Given the description of an element on the screen output the (x, y) to click on. 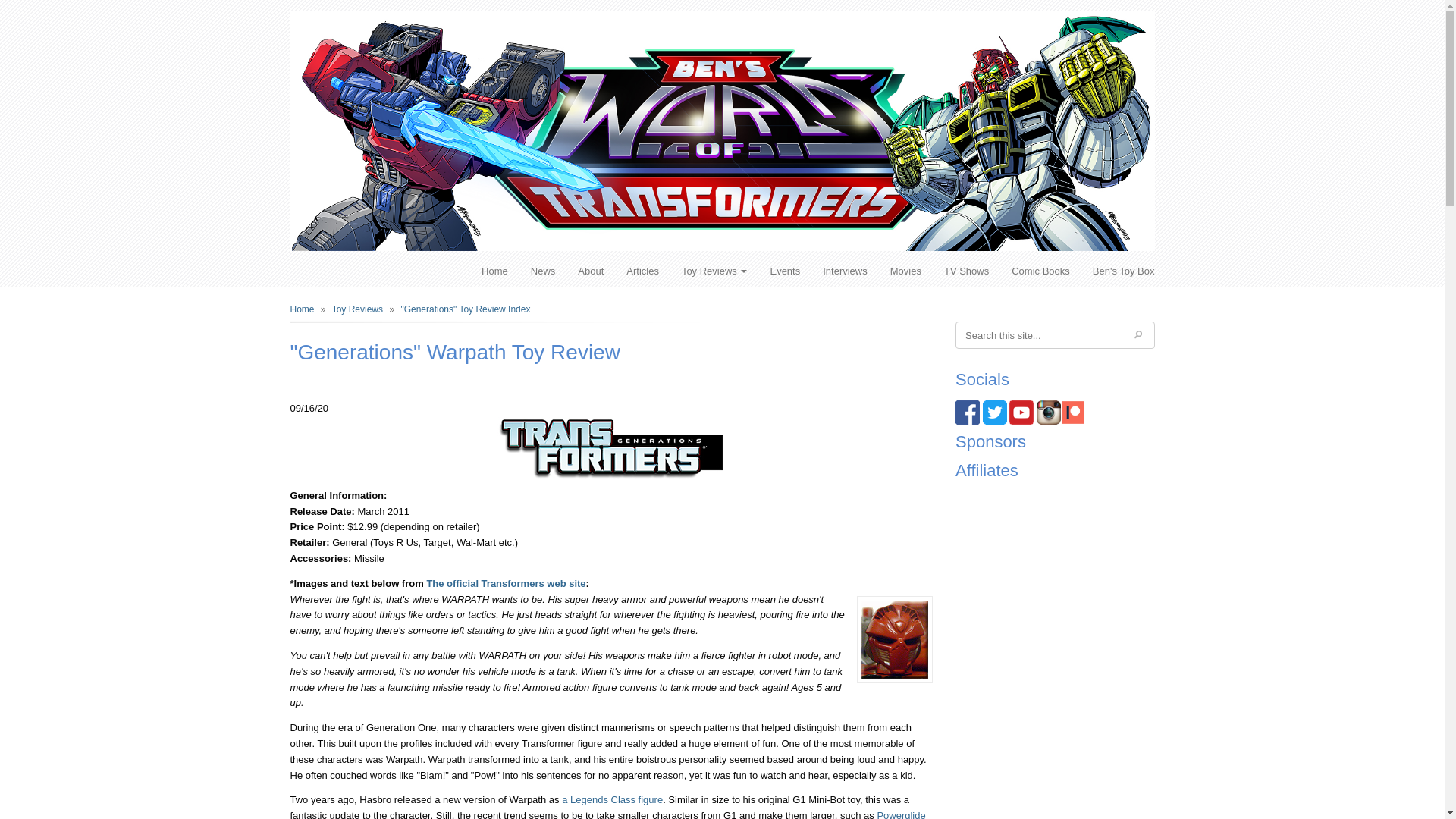
Event coverage including Comic-Con and Toy Fair (784, 271)
About Ben's World of Transformers (590, 271)
Toy Reviews (713, 271)
Search (1138, 335)
Enter the terms you wish to search for. (1040, 336)
Home (494, 271)
News (543, 271)
Articles (641, 271)
About (590, 271)
